Given the description of an element on the screen output the (x, y) to click on. 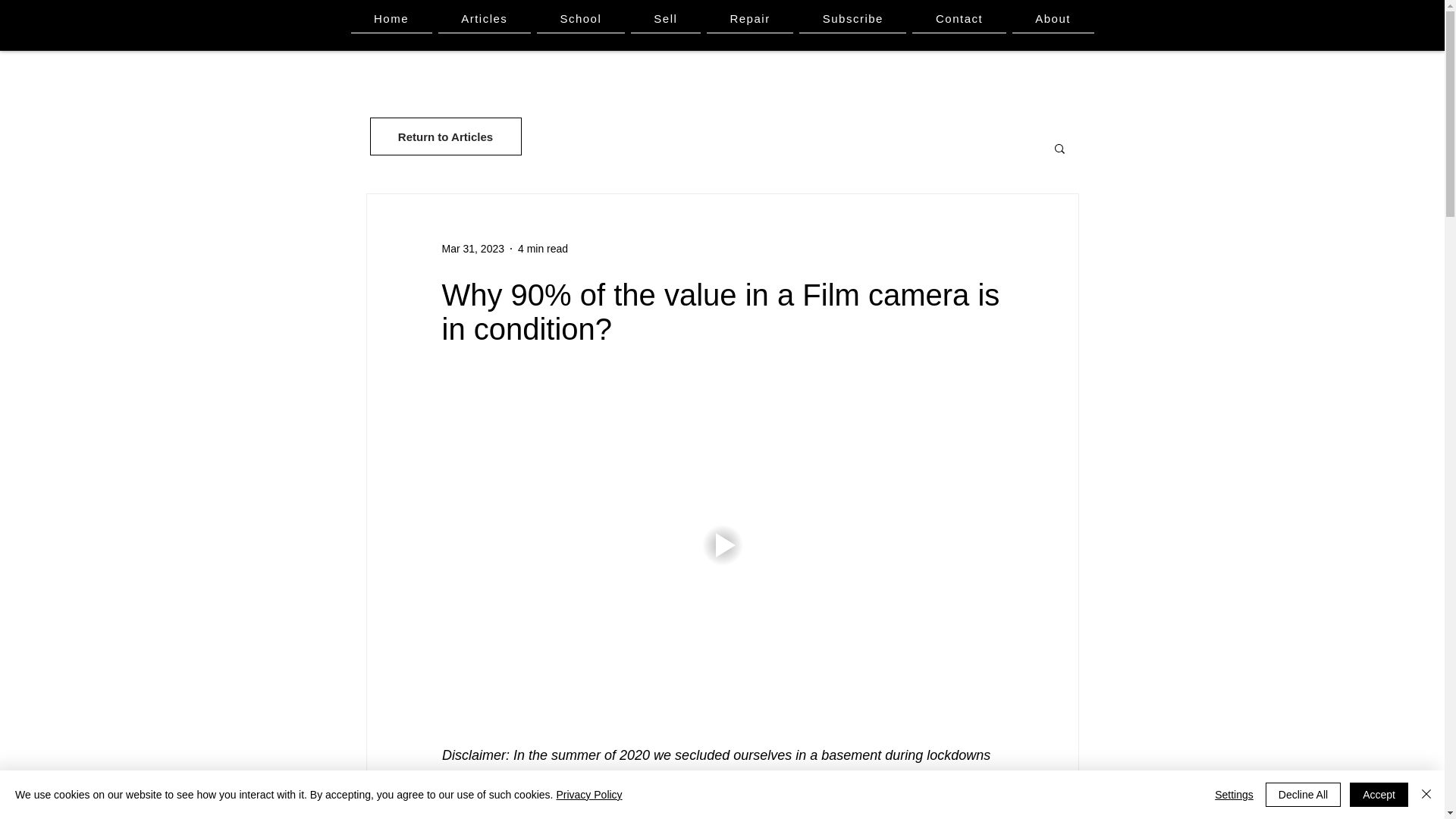
Return to Articles (445, 136)
Decline All (1302, 794)
Accept (1378, 794)
About (1052, 18)
Sell (665, 18)
Repair (749, 18)
4 min read (542, 248)
Contact (959, 18)
Privacy Policy (588, 794)
Articles (484, 18)
